Given the description of an element on the screen output the (x, y) to click on. 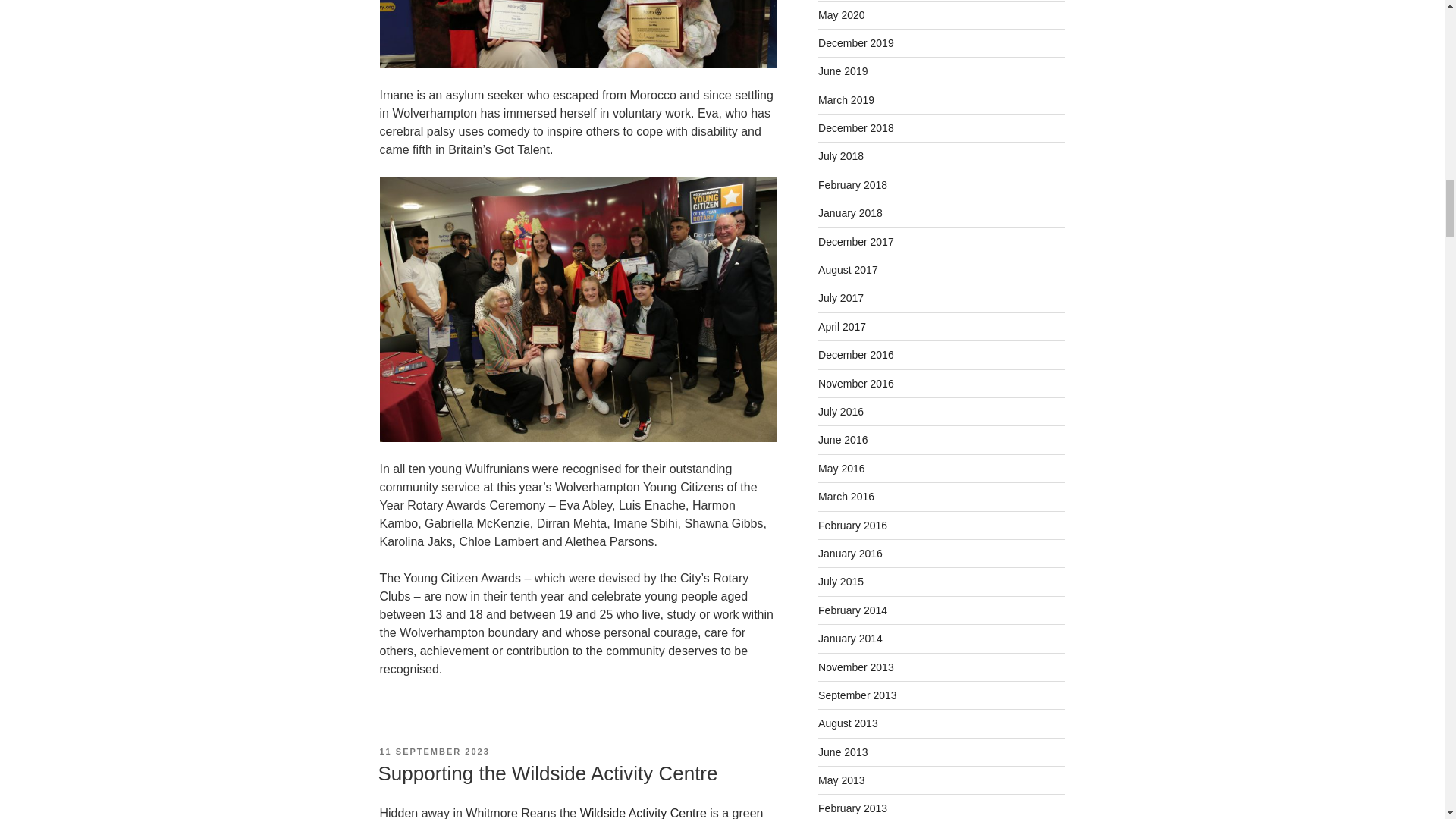
Wildside Activity Centre (642, 812)
Supporting the Wildside Activity Centre (547, 773)
11 SEPTEMBER 2023 (433, 750)
